Given the description of an element on the screen output the (x, y) to click on. 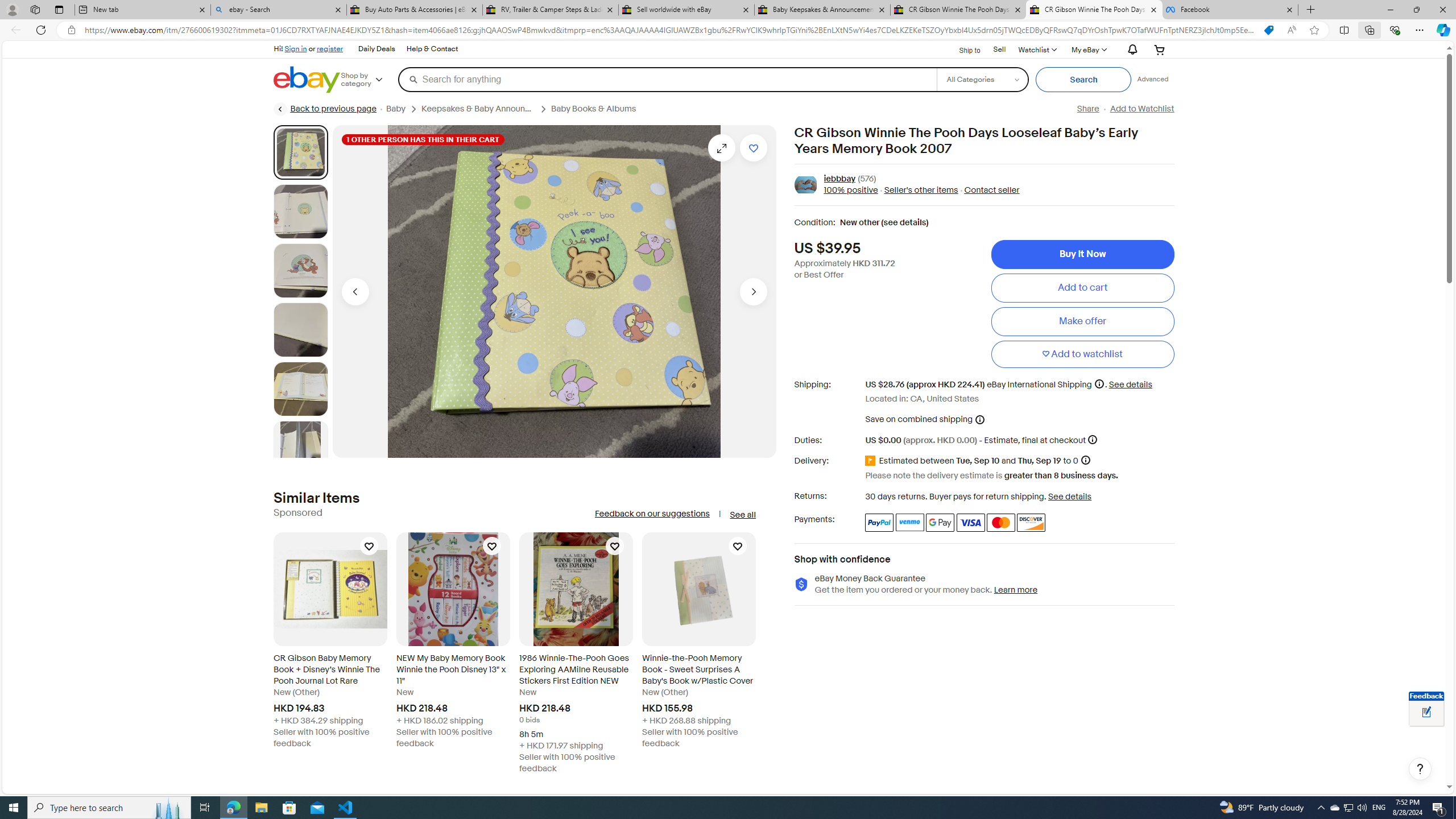
AutomationID: gh-shipto-click (962, 48)
Facebook (1230, 9)
